Given the description of an element on the screen output the (x, y) to click on. 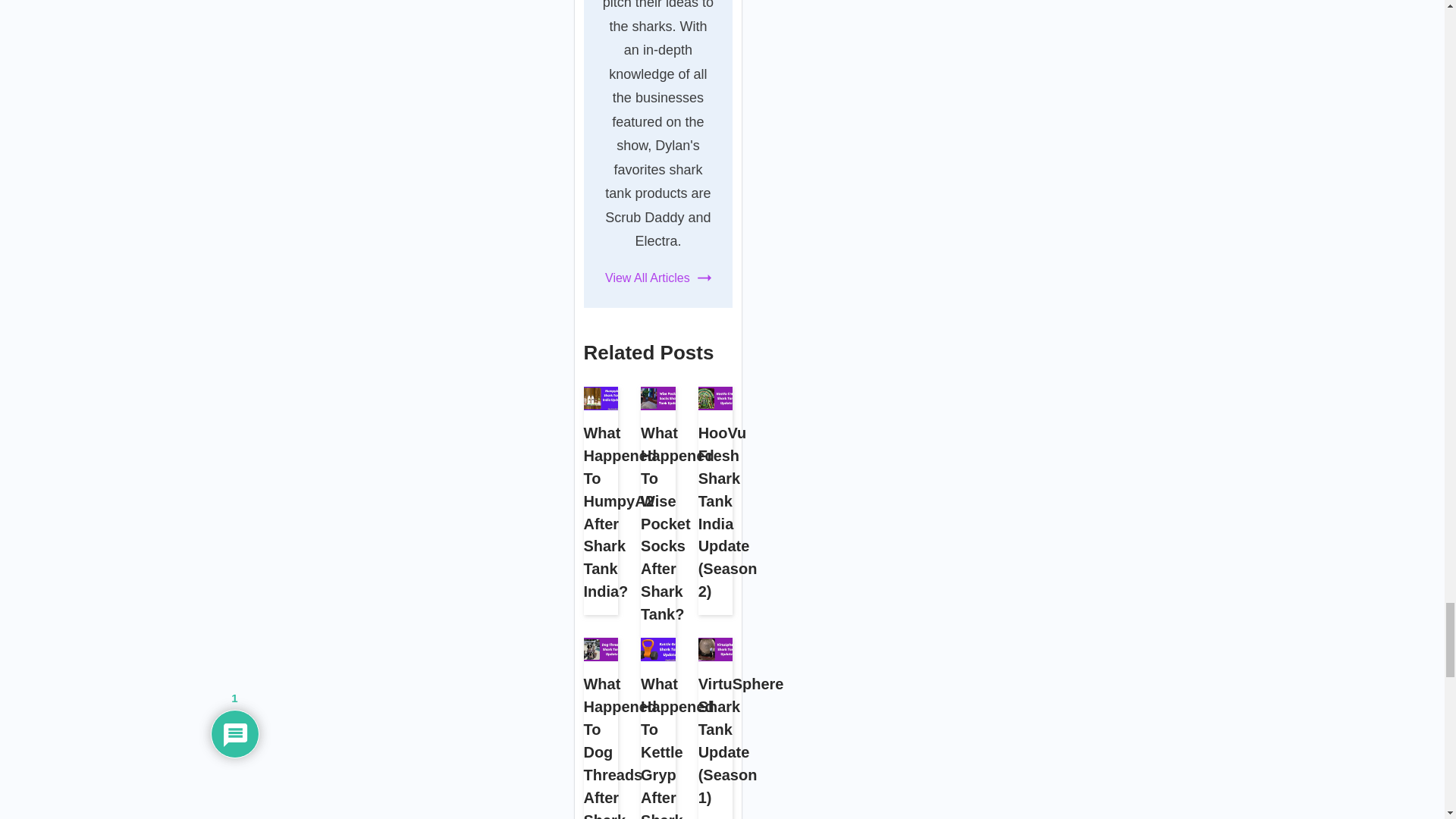
View All Articles (658, 277)
